Given the description of an element on the screen output the (x, y) to click on. 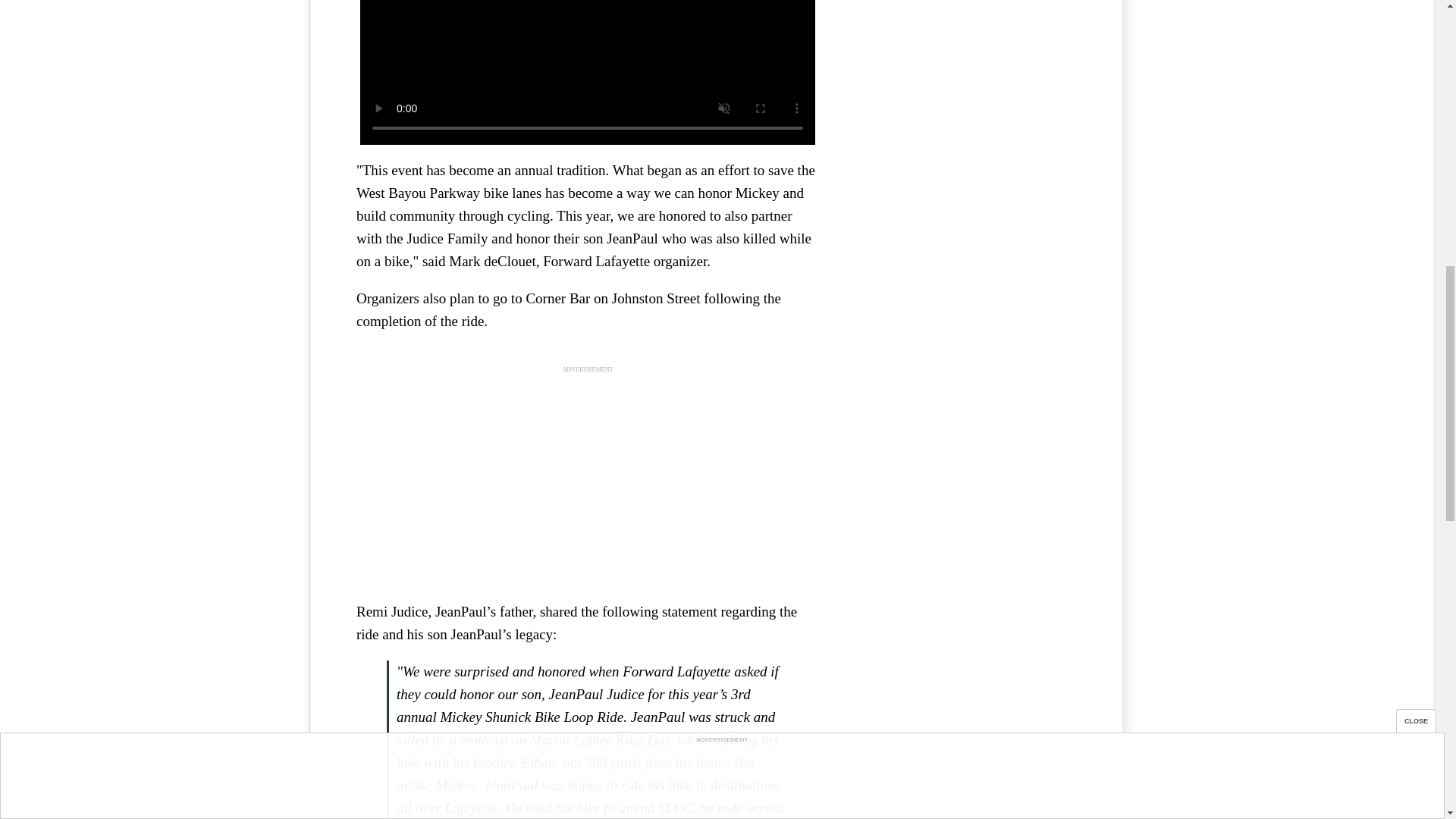
3rd party ad content (962, 123)
3rd party ad content (587, 479)
